Given the description of an element on the screen output the (x, y) to click on. 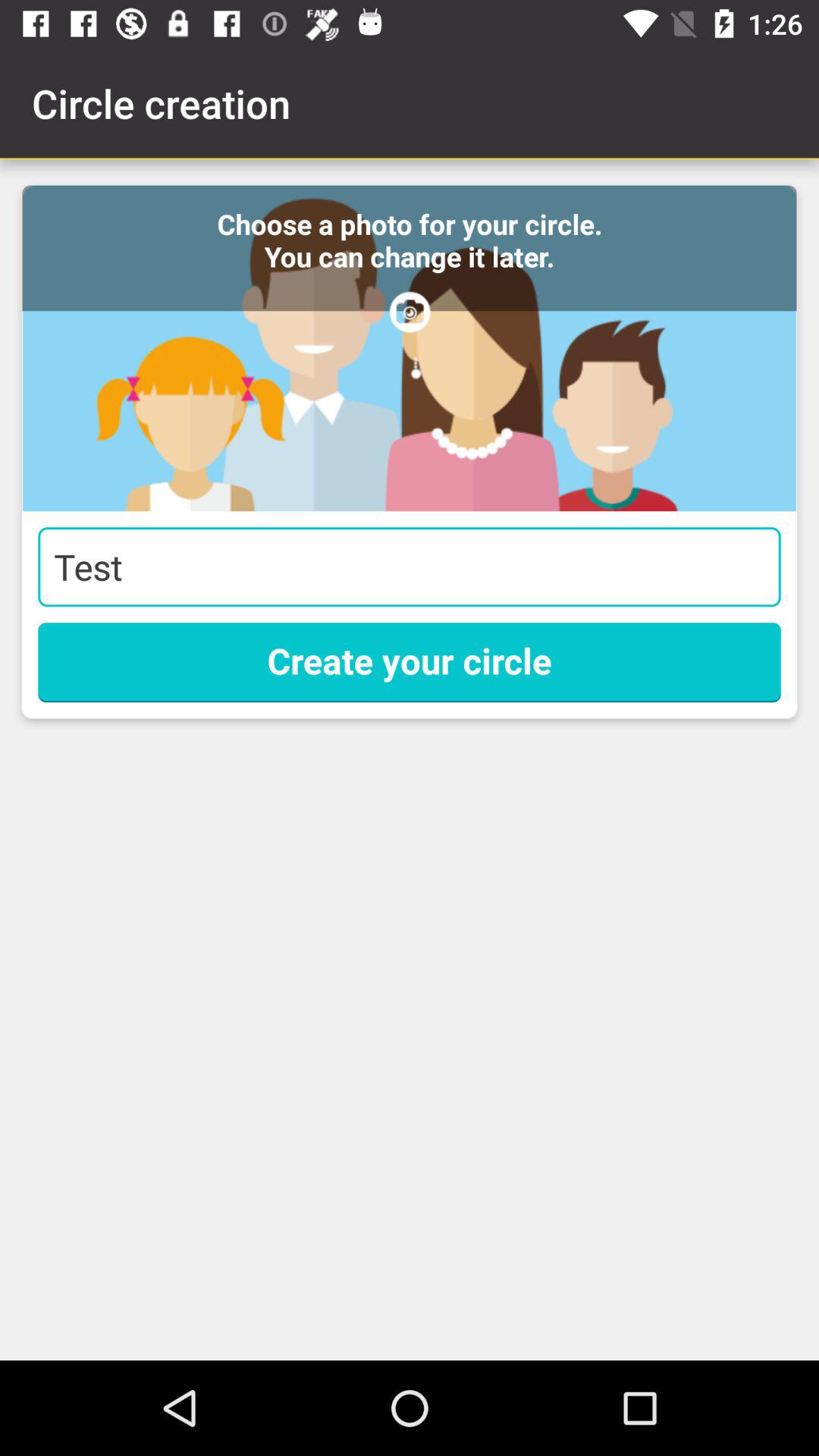
add a photo (409, 348)
